Given the description of an element on the screen output the (x, y) to click on. 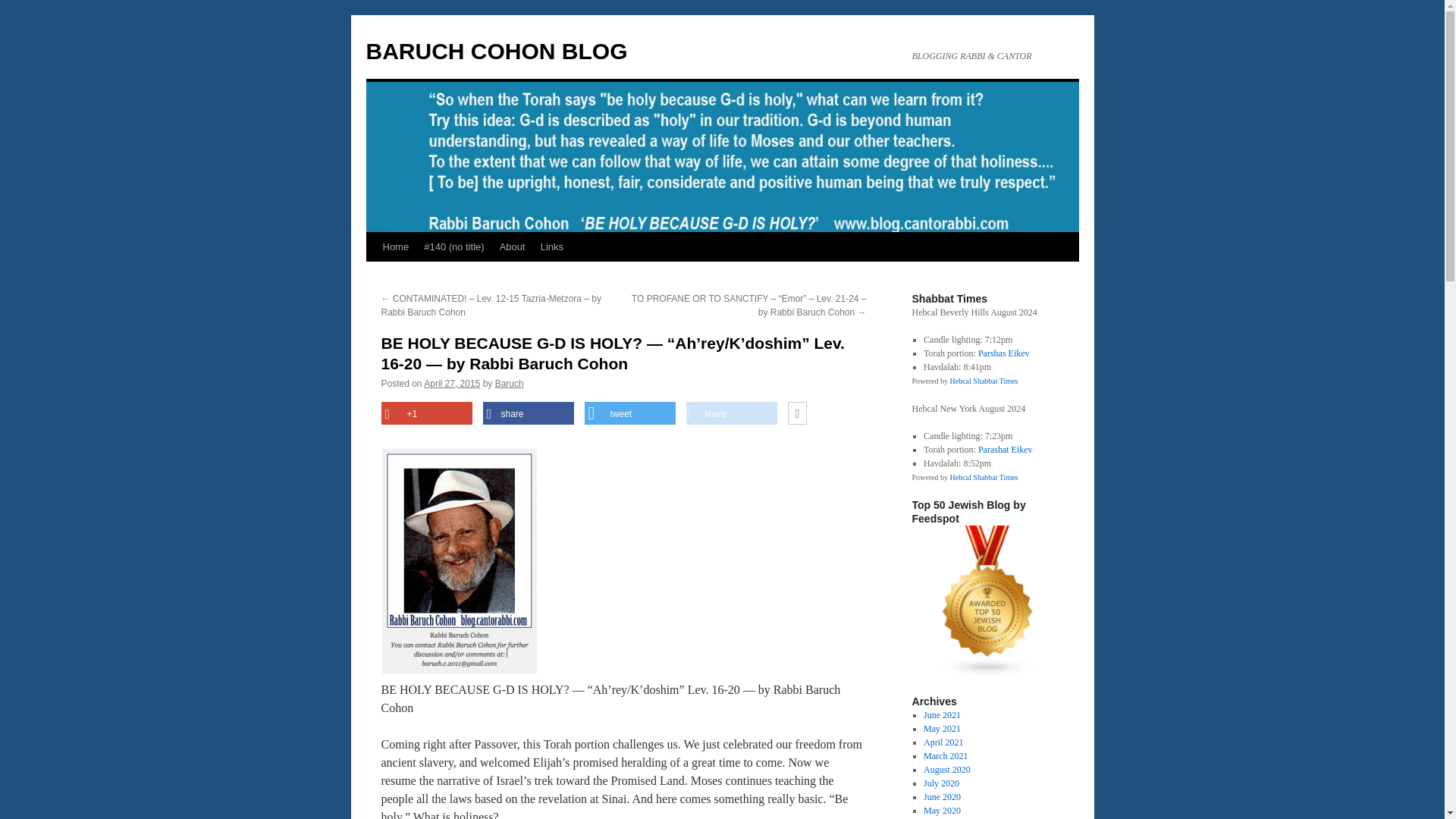
Hebcal Shabbat Times (983, 477)
tweet (629, 413)
Parshas Eikev (1003, 353)
Home (395, 246)
April 27, 2015 (451, 383)
About (512, 246)
share (730, 413)
Share on Facebook (527, 413)
10:25 am (451, 383)
Parashat Eikev (1005, 449)
